Given the description of an element on the screen output the (x, y) to click on. 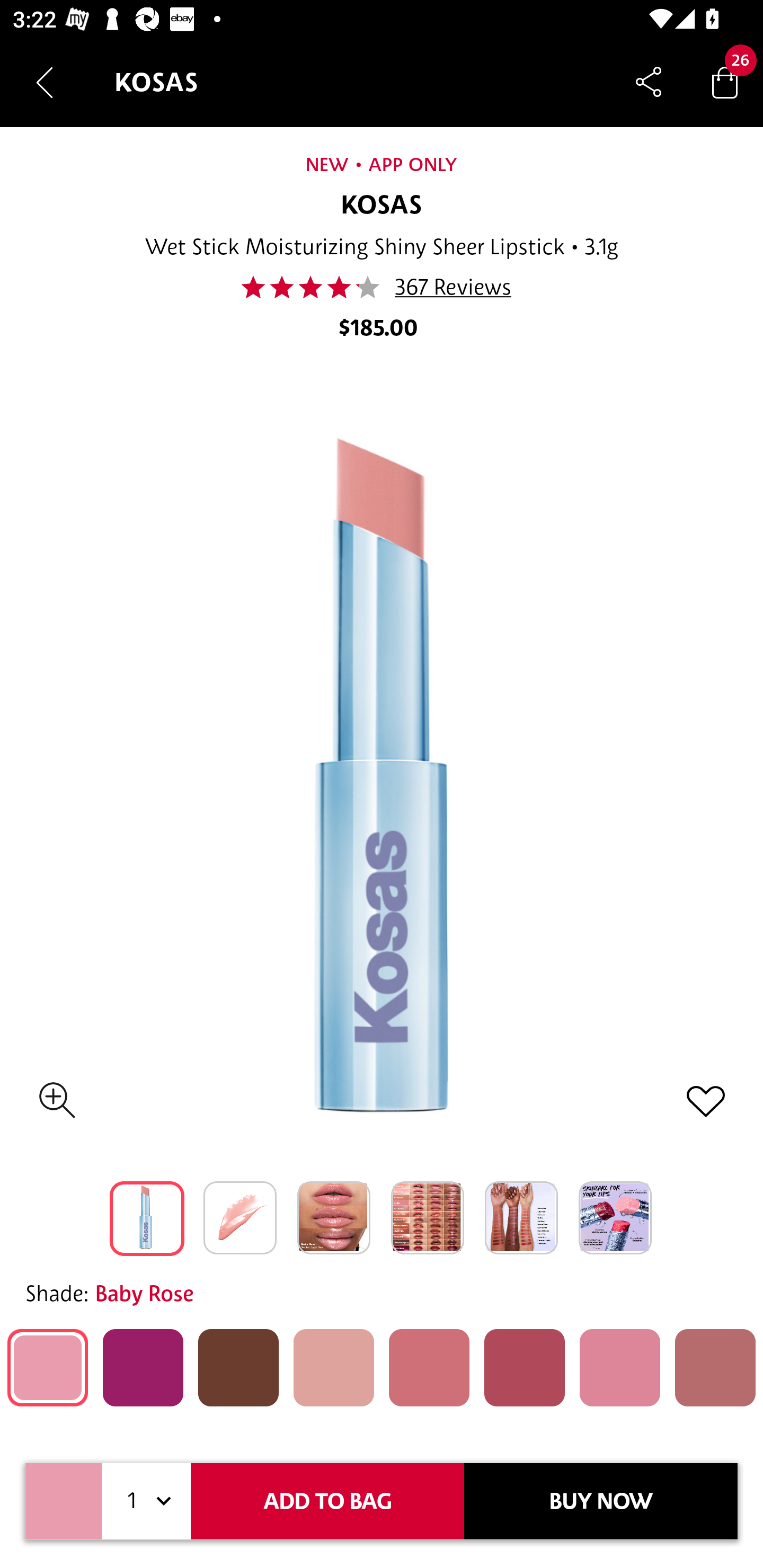
Navigate up (44, 82)
Share (648, 81)
Bag (724, 81)
KOSAS (381, 205)
42.0 367 Reviews (381, 286)
1 (145, 1500)
ADD TO BAG (326, 1500)
BUY NOW (600, 1500)
